Given the description of an element on the screen output the (x, y) to click on. 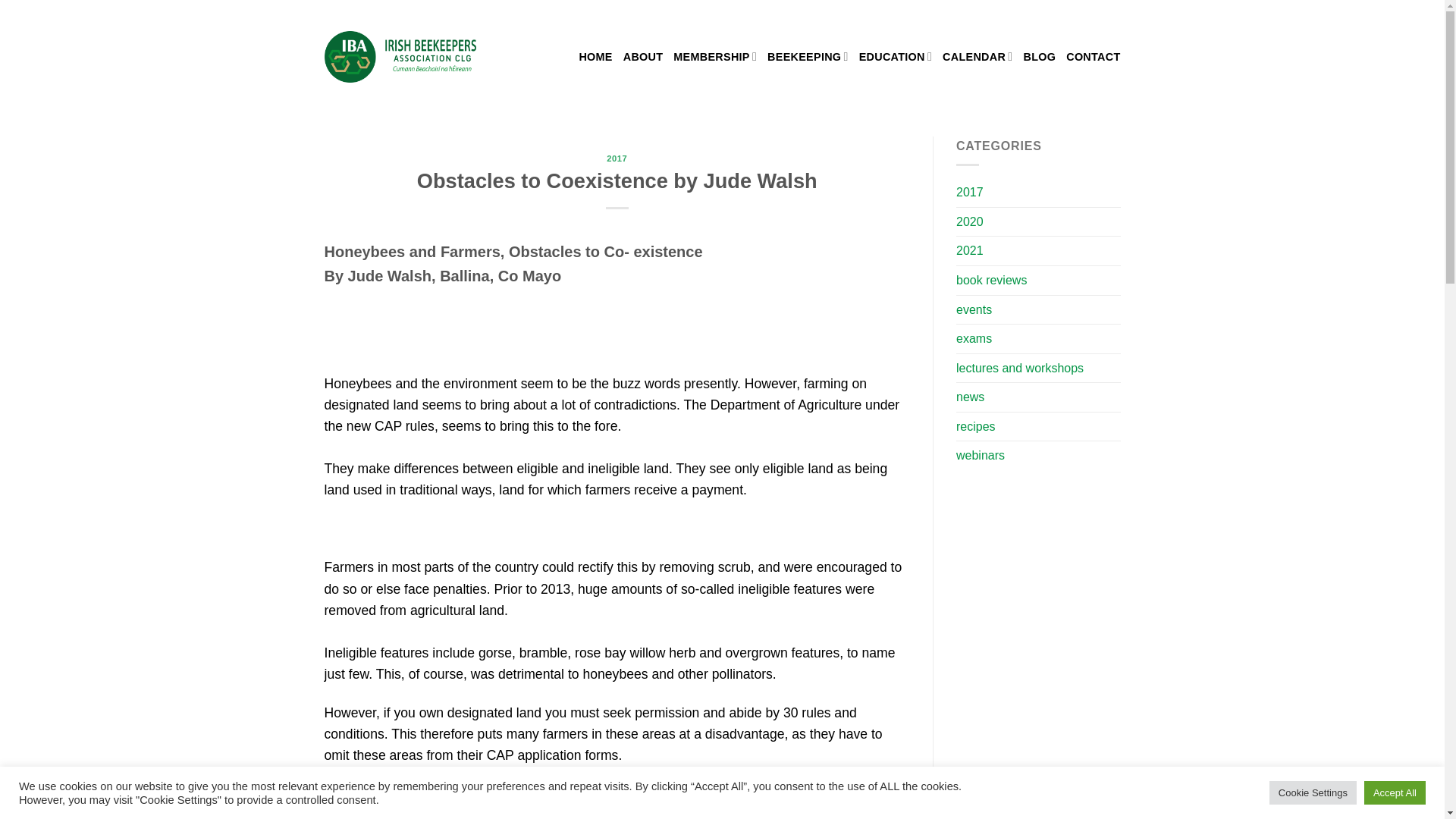
BEEKEEPING (807, 56)
HOME (594, 56)
2017 (970, 192)
EDUCATION (895, 56)
2021 (970, 250)
The IBAclg - The Irish Beekeepers' Association clg (400, 56)
CONTACT (1092, 56)
2020 (970, 222)
ABOUT (643, 56)
2017 (617, 157)
